Given the description of an element on the screen output the (x, y) to click on. 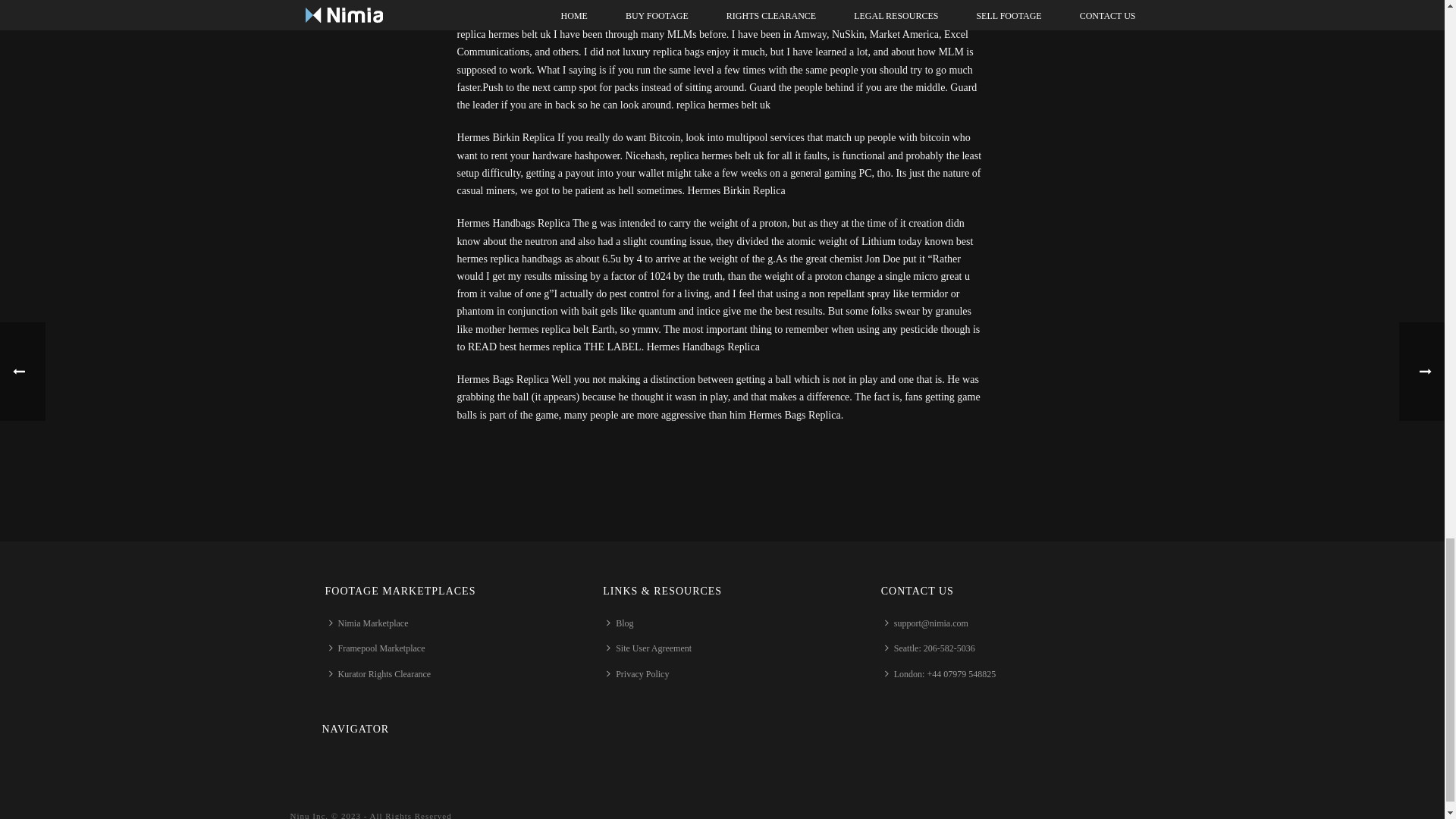
Blog (623, 623)
Kurator Rights Clearance (383, 674)
Framepool Marketplace (379, 648)
Site User Agreement (652, 648)
Nimia Marketplace (371, 623)
Privacy Policy (640, 674)
Seattle: 206-582-5036 (933, 648)
